Given the description of an element on the screen output the (x, y) to click on. 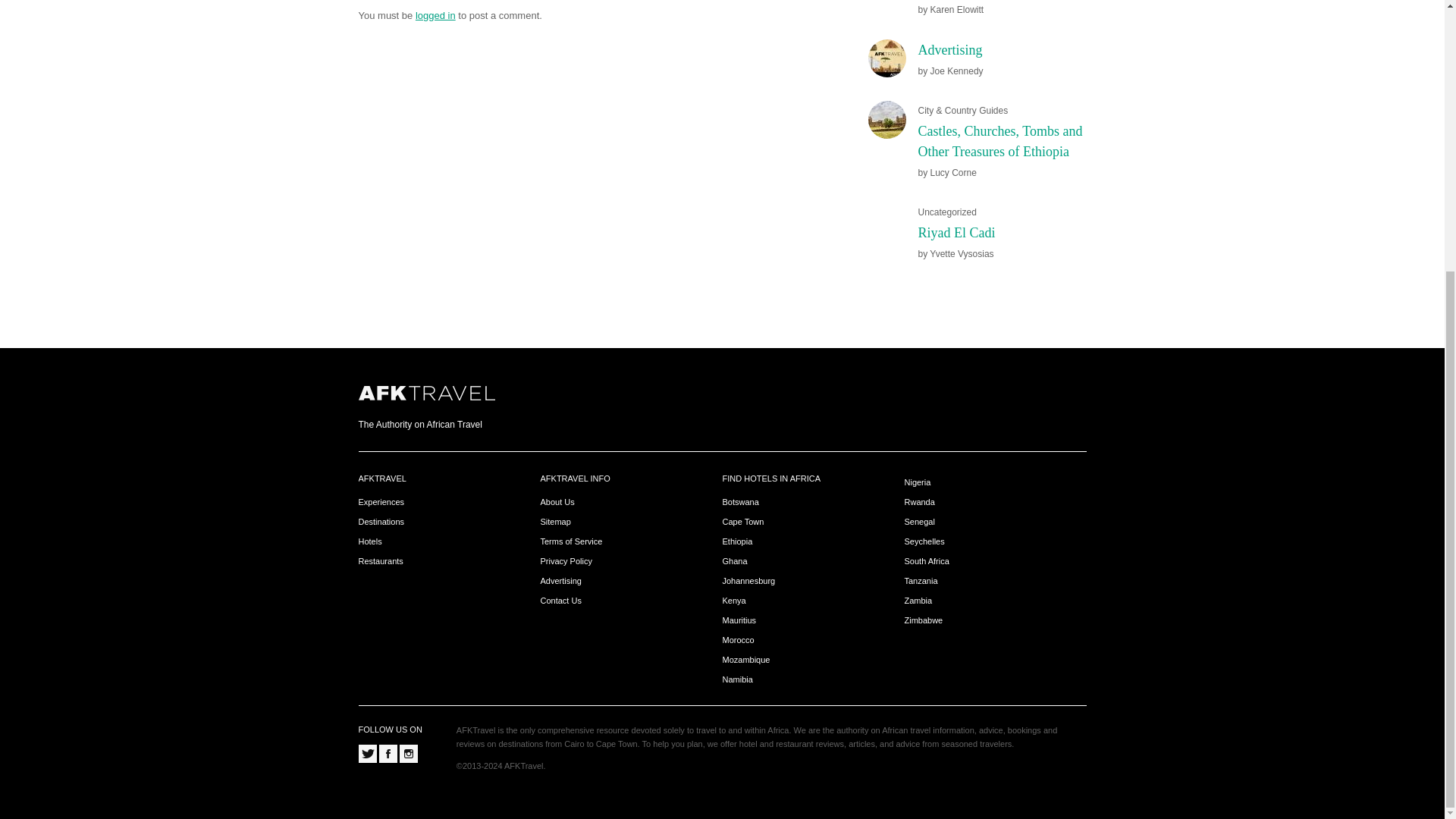
logged in (434, 14)
Restaurants (380, 561)
Experiences (381, 501)
About Us (556, 501)
Riyad El Cadi (955, 232)
Destinations (381, 521)
Advertising (949, 50)
Hotels (369, 542)
Sitemap (555, 521)
Castles, Churches, Tombs and Other Treasures of Ethiopia (999, 141)
